Given the description of an element on the screen output the (x, y) to click on. 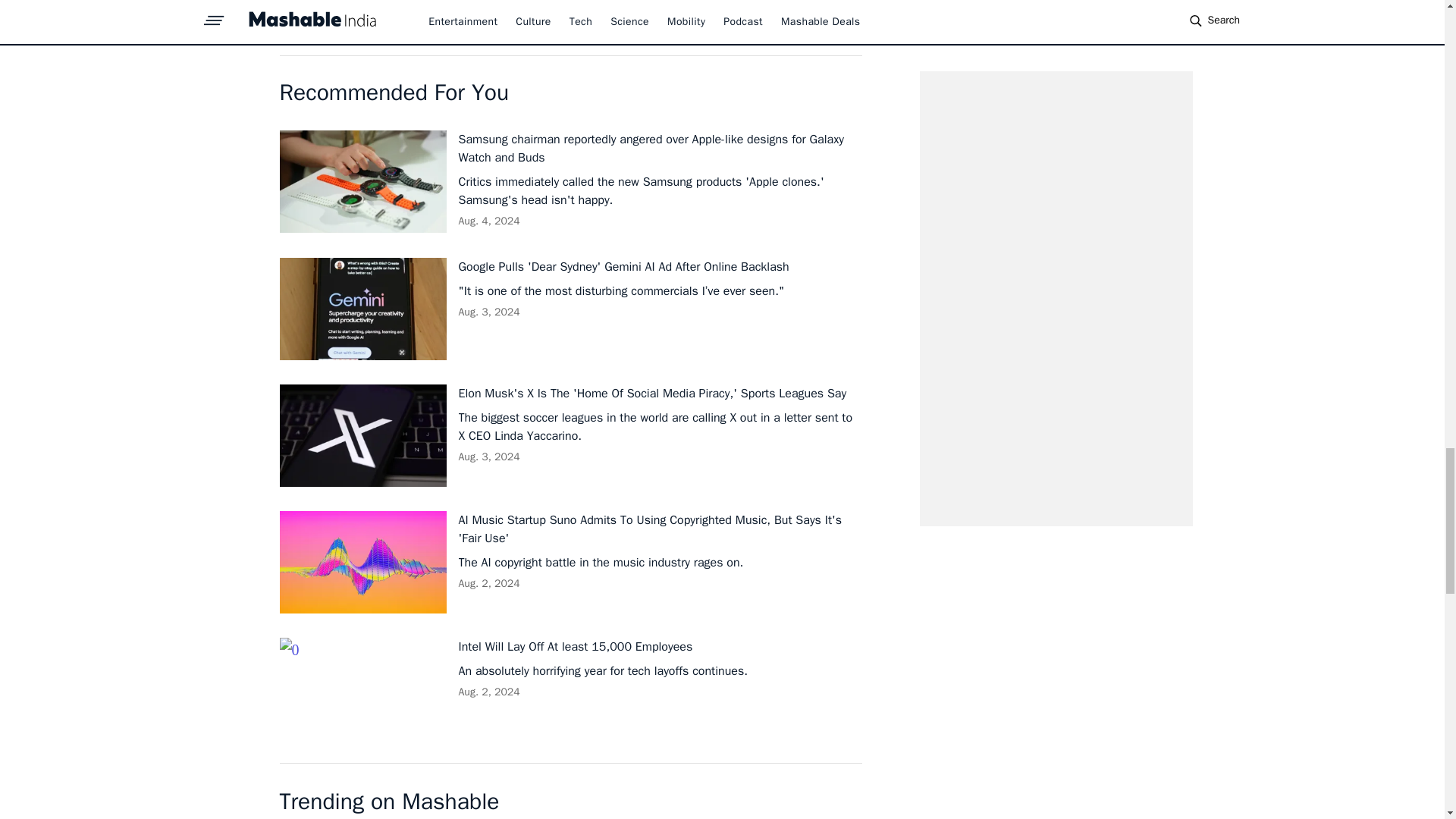
Tech (350, 18)
tech news (578, 18)
Apple News (502, 18)
iPhone (437, 18)
Apple (390, 18)
